Given the description of an element on the screen output the (x, y) to click on. 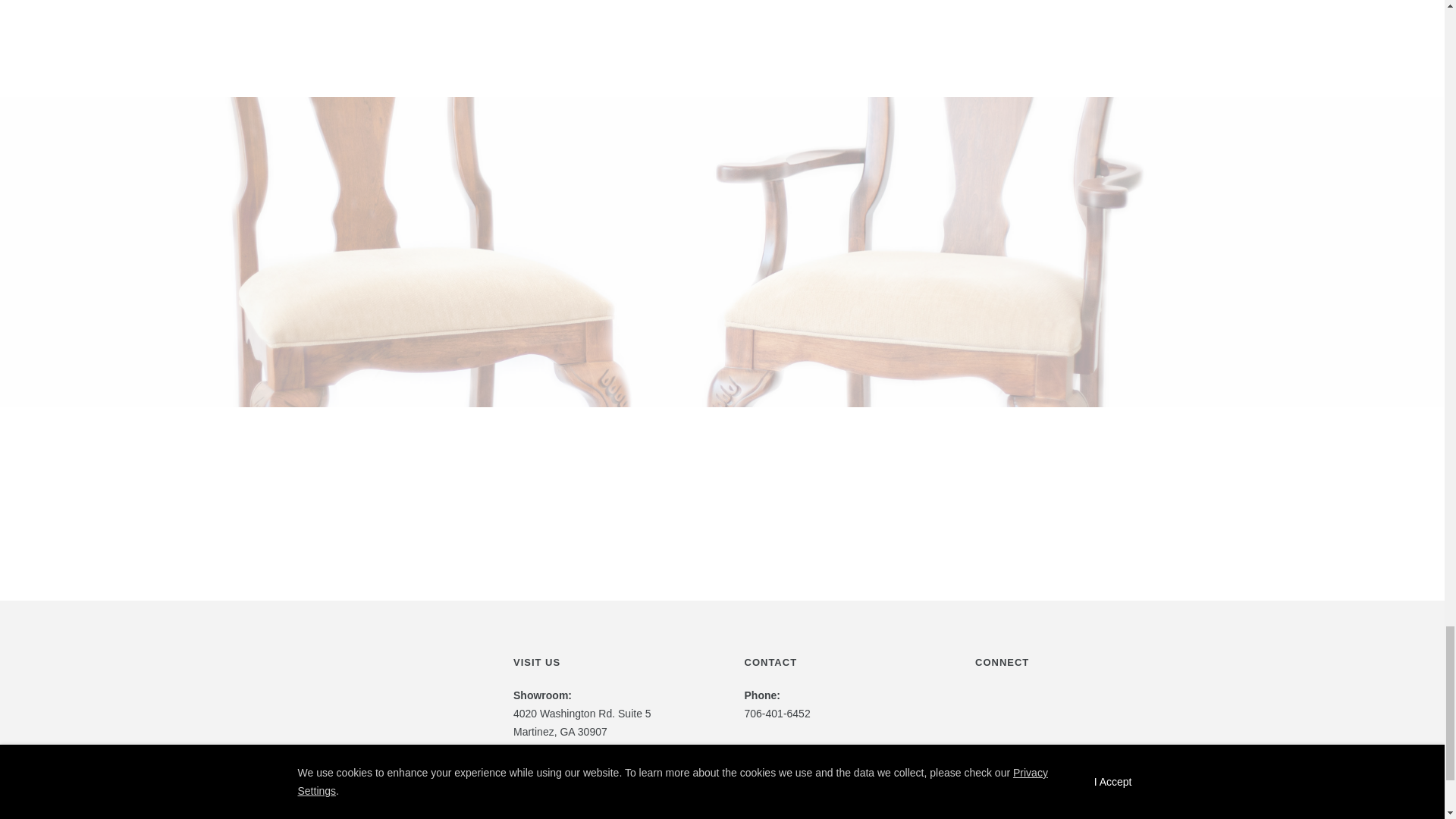
Email Us Today (1011, 793)
